Given the description of an element on the screen output the (x, y) to click on. 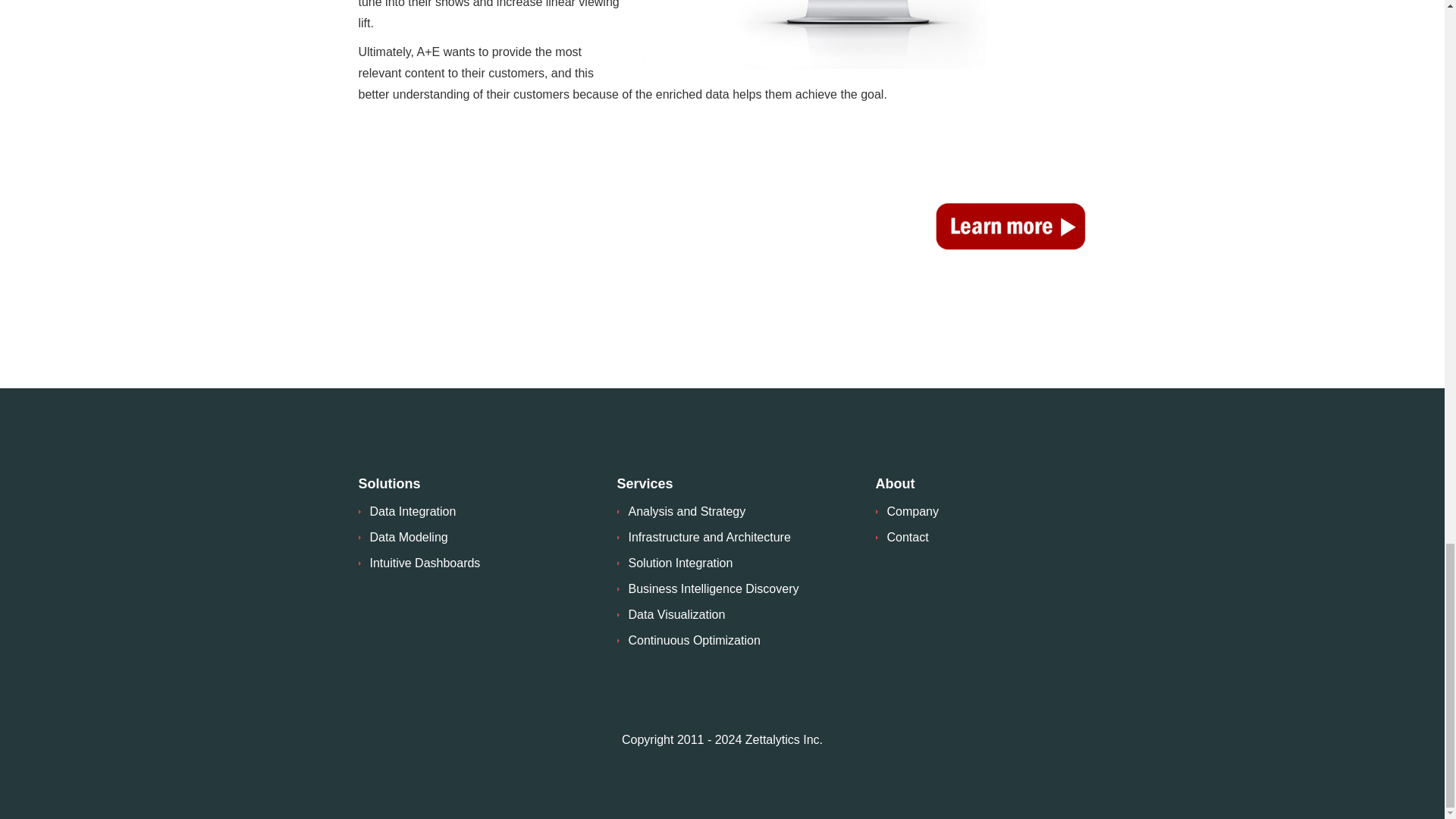
Continuous Optimization (693, 640)
Data Visualization (676, 614)
Infrastructure and Architecture (708, 536)
Intuitive Dashboards (424, 562)
Analysis and Strategy (686, 511)
Solution Integration (679, 562)
Company (912, 511)
Business Intelligence Discovery (712, 588)
Data Integration (413, 511)
Contact (907, 536)
Data Modeling (408, 536)
